Given the description of an element on the screen output the (x, y) to click on. 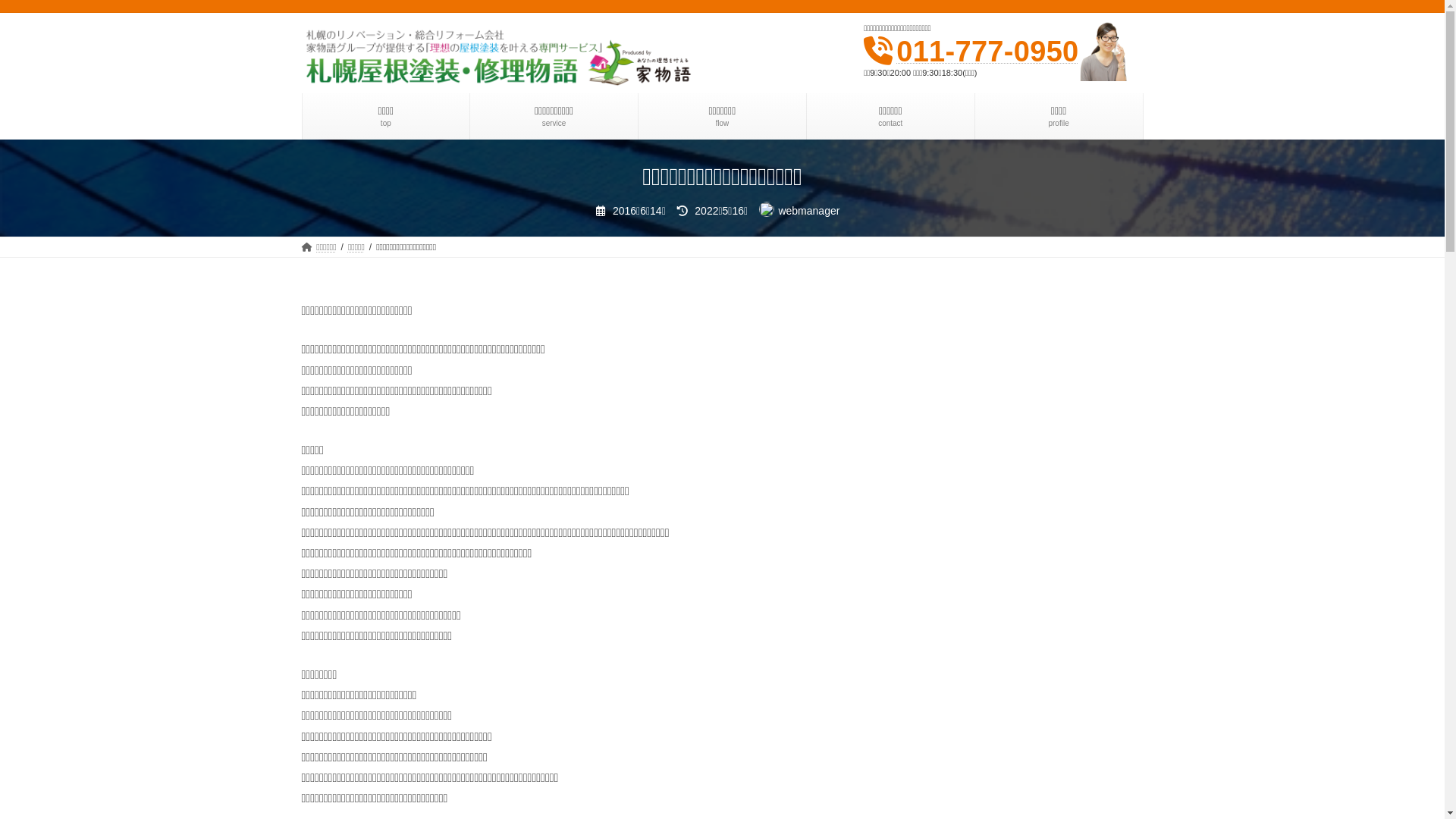
011-777-0950 Element type: text (987, 51)
